Given the description of an element on the screen output the (x, y) to click on. 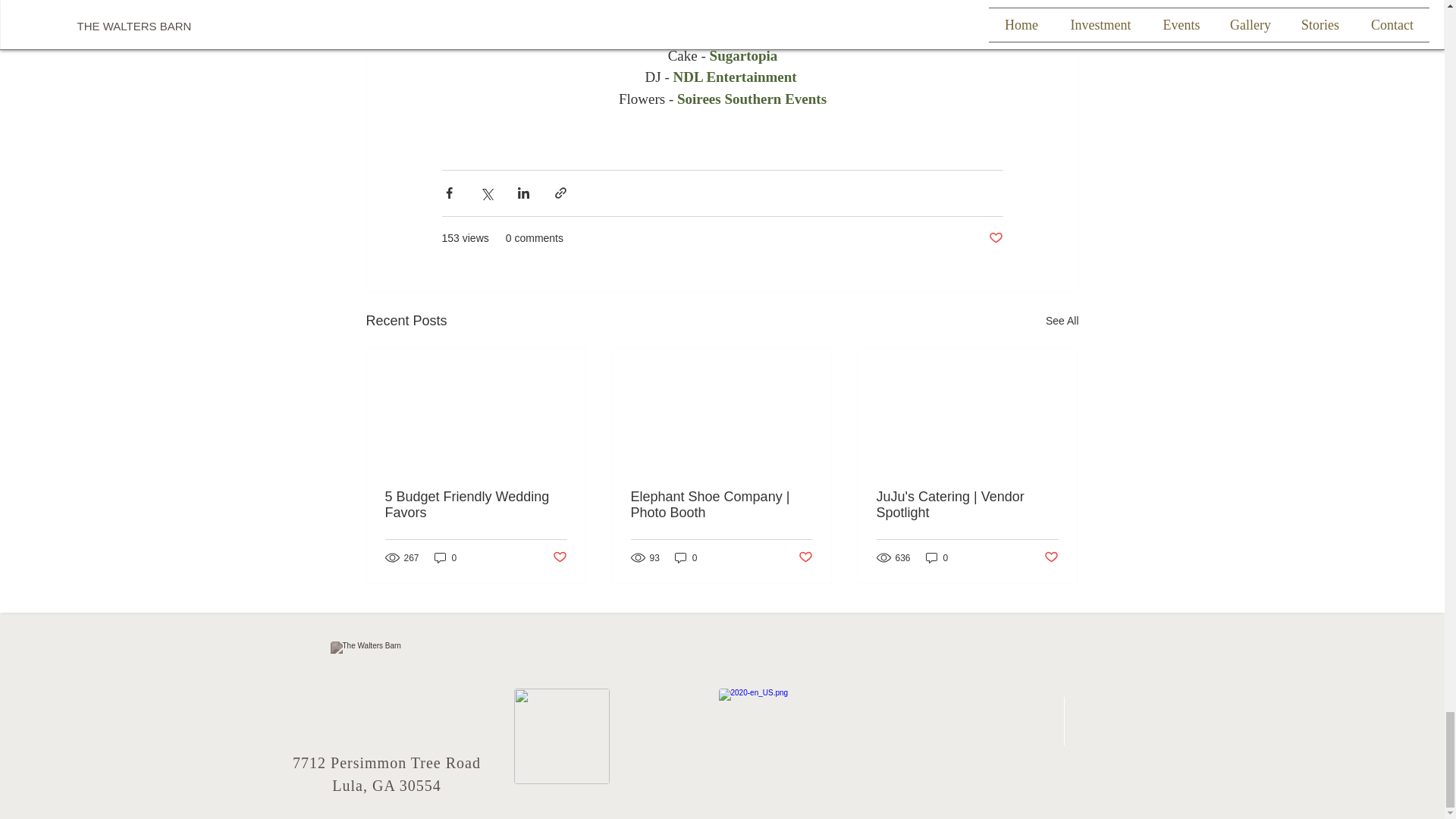
5 Budget Friendly Wedding Favors (476, 504)
Post not marked as liked (995, 238)
Post not marked as liked (804, 557)
Luna's (749, 33)
0 (685, 557)
Post not marked as liked (558, 557)
Sugartopia (743, 55)
Make Me Up (780, 12)
Soirees Southern Events (751, 98)
See All (1061, 321)
